Given the description of an element on the screen output the (x, y) to click on. 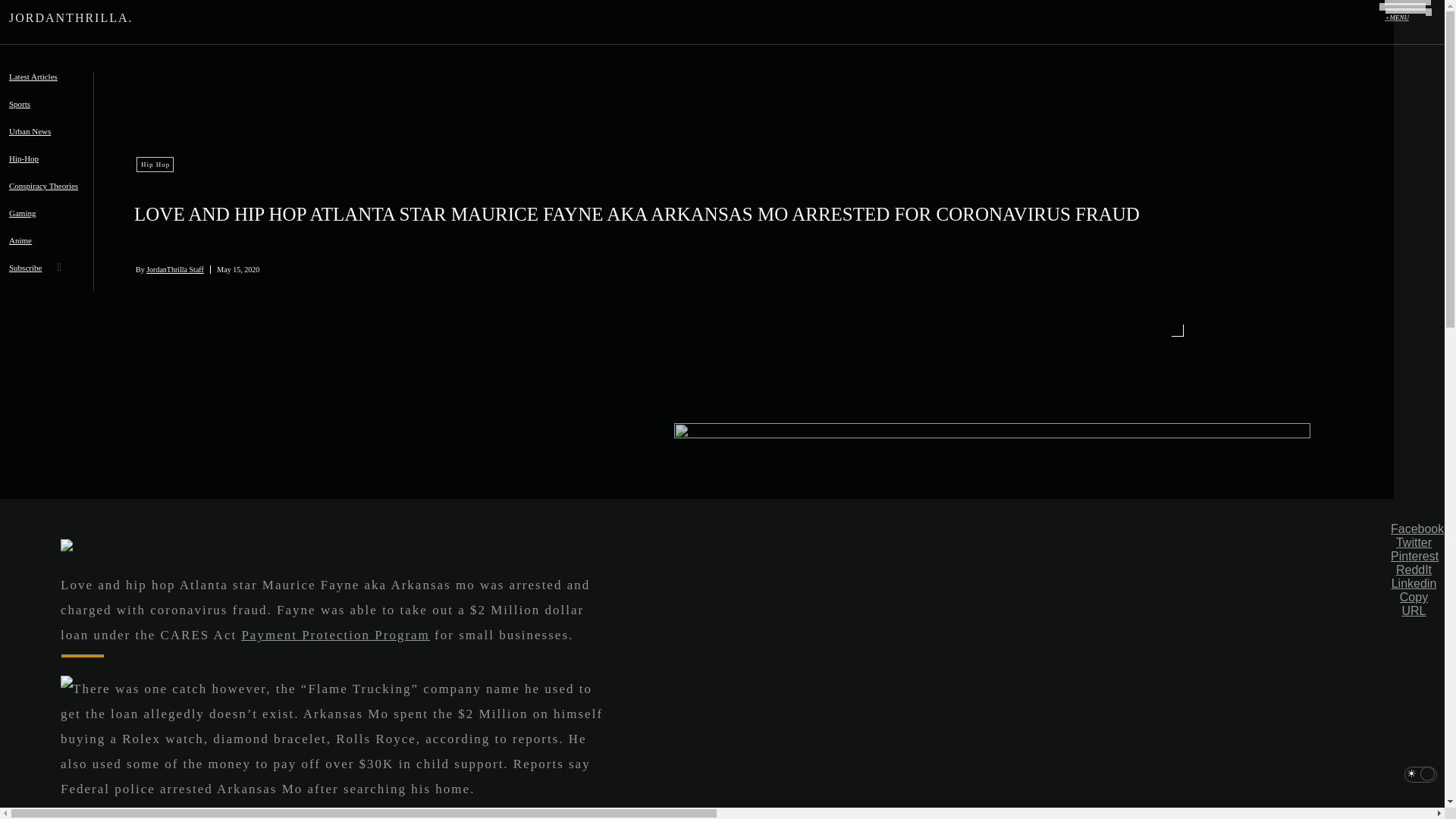
Hip Hop (154, 164)
Pinterest (1413, 556)
Sports (25, 113)
Subscribe (30, 277)
Urban News (35, 140)
Linkedin (1413, 583)
Gaming (27, 222)
Facebook (1413, 529)
Linkedin (1413, 583)
ReddIt (1413, 570)
